Given the description of an element on the screen output the (x, y) to click on. 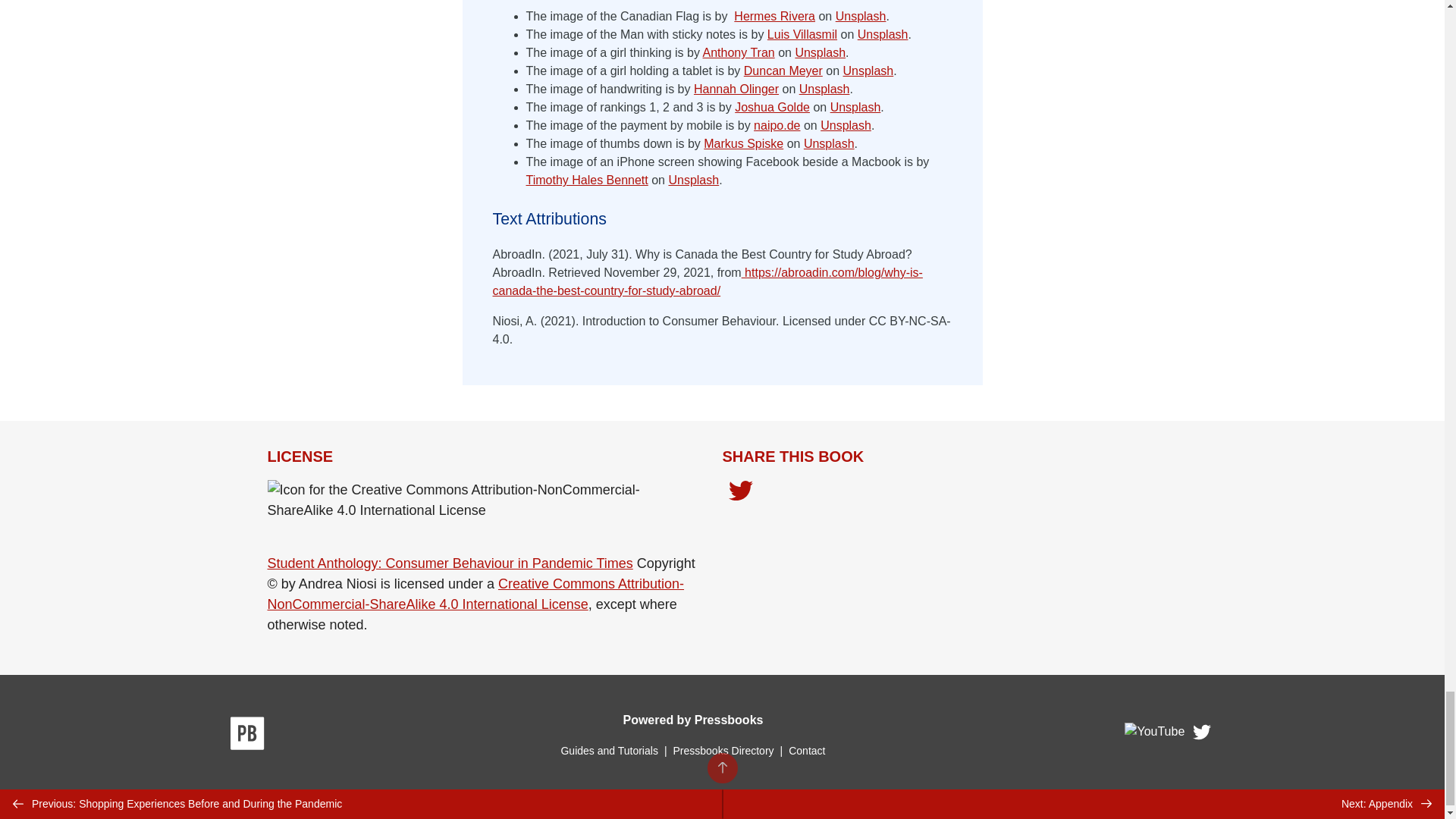
Student Anthology: Consumer Behaviour in Pandemic Times (448, 563)
Share on Twitter (740, 494)
Contact (807, 750)
Share on Twitter (740, 491)
Luis Villasmil (802, 33)
Guides and Tutorials (608, 750)
Joshua Golde (772, 106)
Unsplash (882, 33)
Unsplash (845, 124)
